Given the description of an element on the screen output the (x, y) to click on. 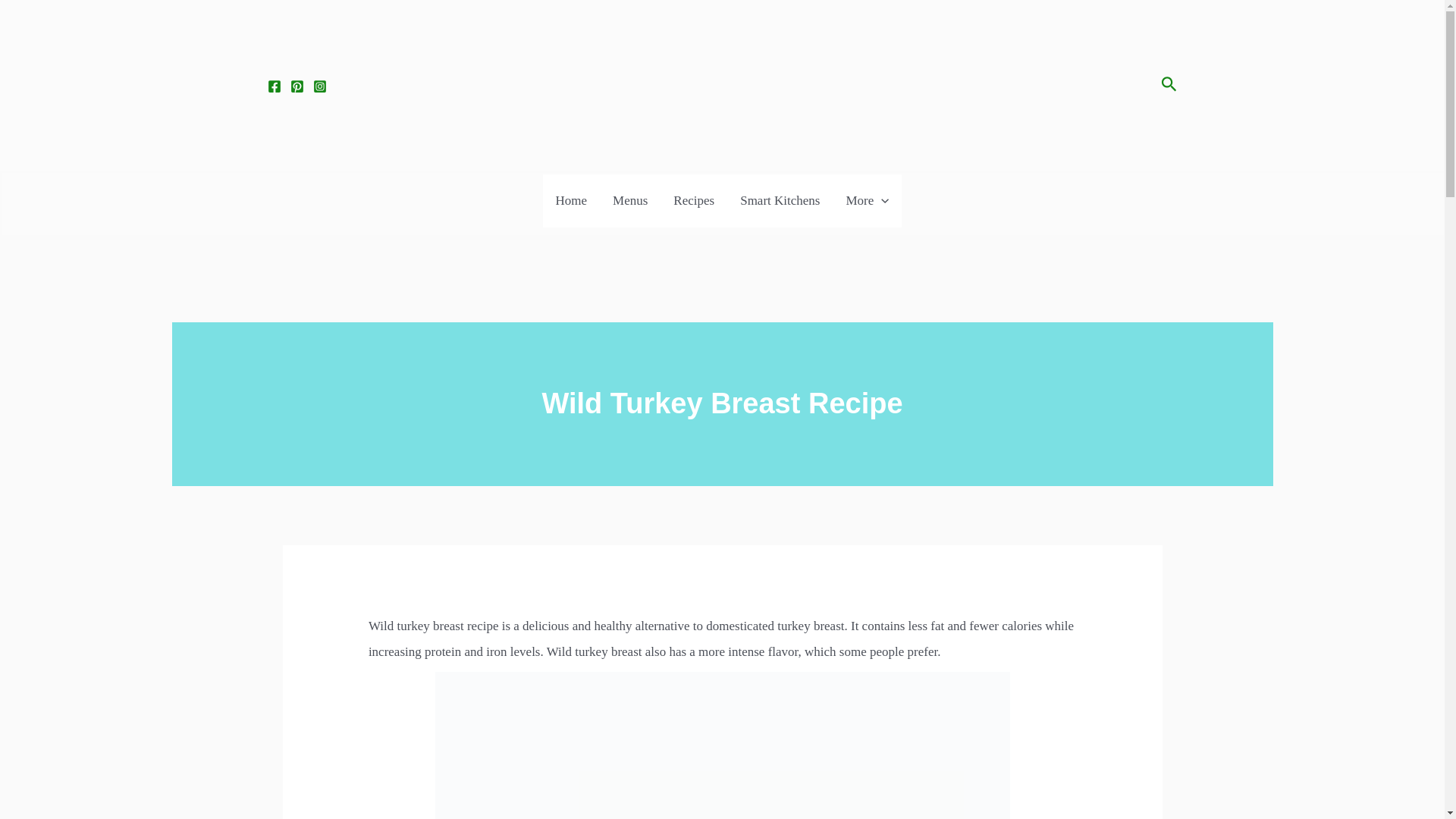
Menus (630, 200)
Recipes (693, 200)
Home (571, 200)
Smart Kitchens (779, 200)
More (866, 200)
